Given the description of an element on the screen output the (x, y) to click on. 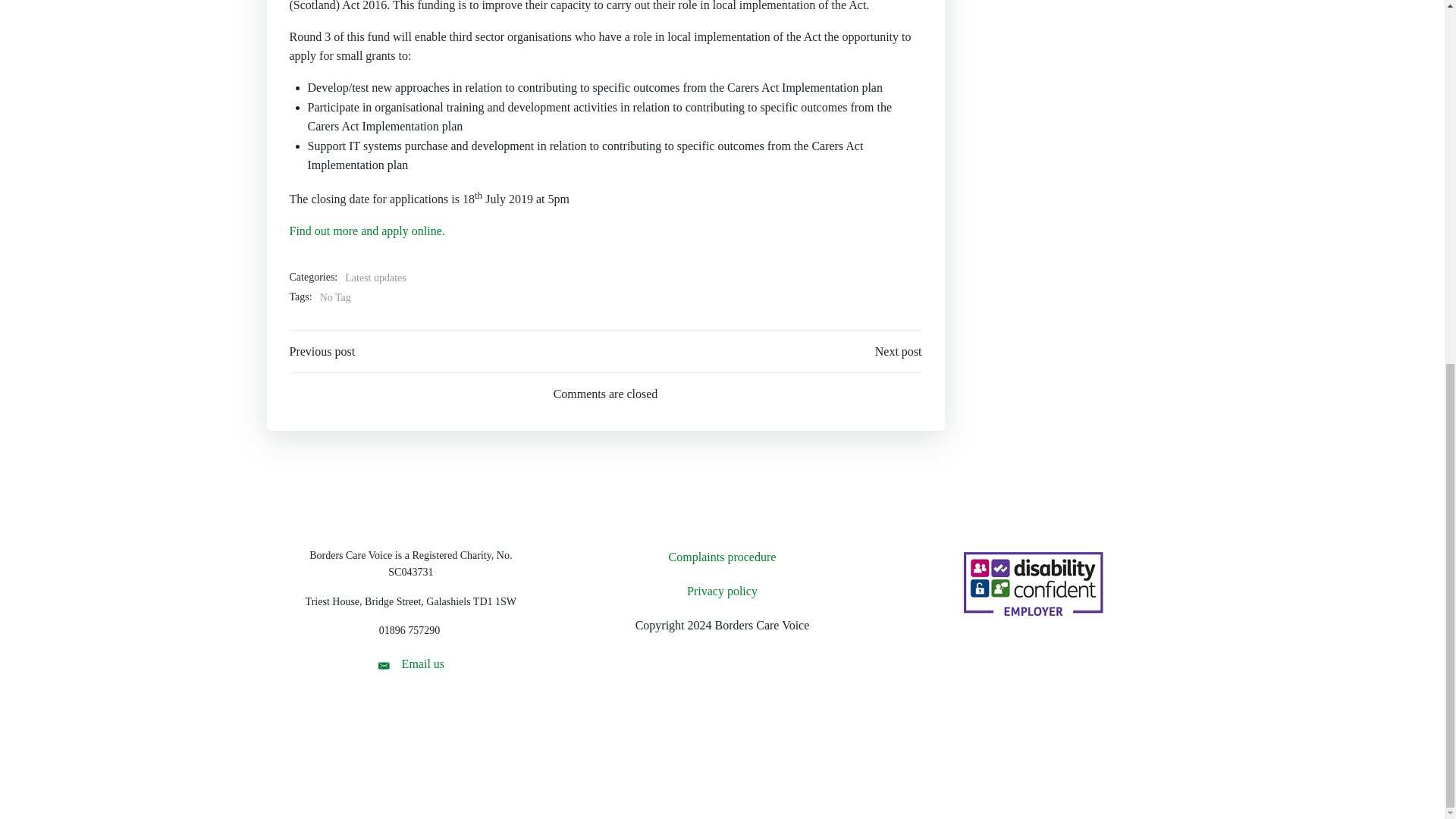
Complaints procedure (722, 556)
Find out more and apply online. (367, 230)
Previous post (322, 352)
Email us (410, 664)
Privacy policy (722, 591)
Next post (898, 352)
Latest updates (375, 278)
